Given the description of an element on the screen output the (x, y) to click on. 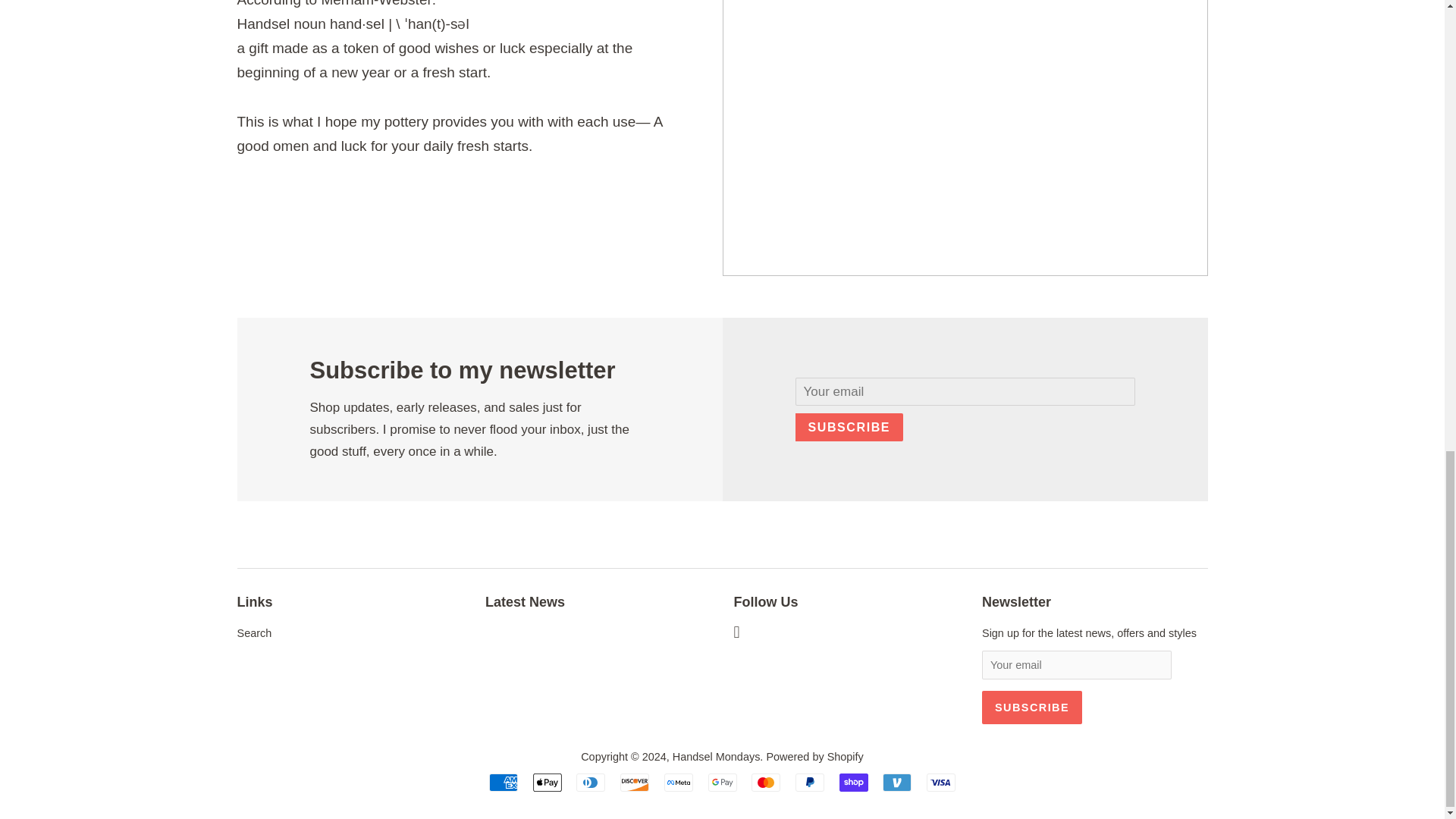
PayPal (809, 782)
Powered by Shopify (814, 756)
Visa (940, 782)
Venmo (896, 782)
Search (252, 633)
Google Pay (721, 782)
Apple Pay (547, 782)
Subscribe (1031, 707)
Diners Club (590, 782)
Shop Pay (853, 782)
